Given the description of an element on the screen output the (x, y) to click on. 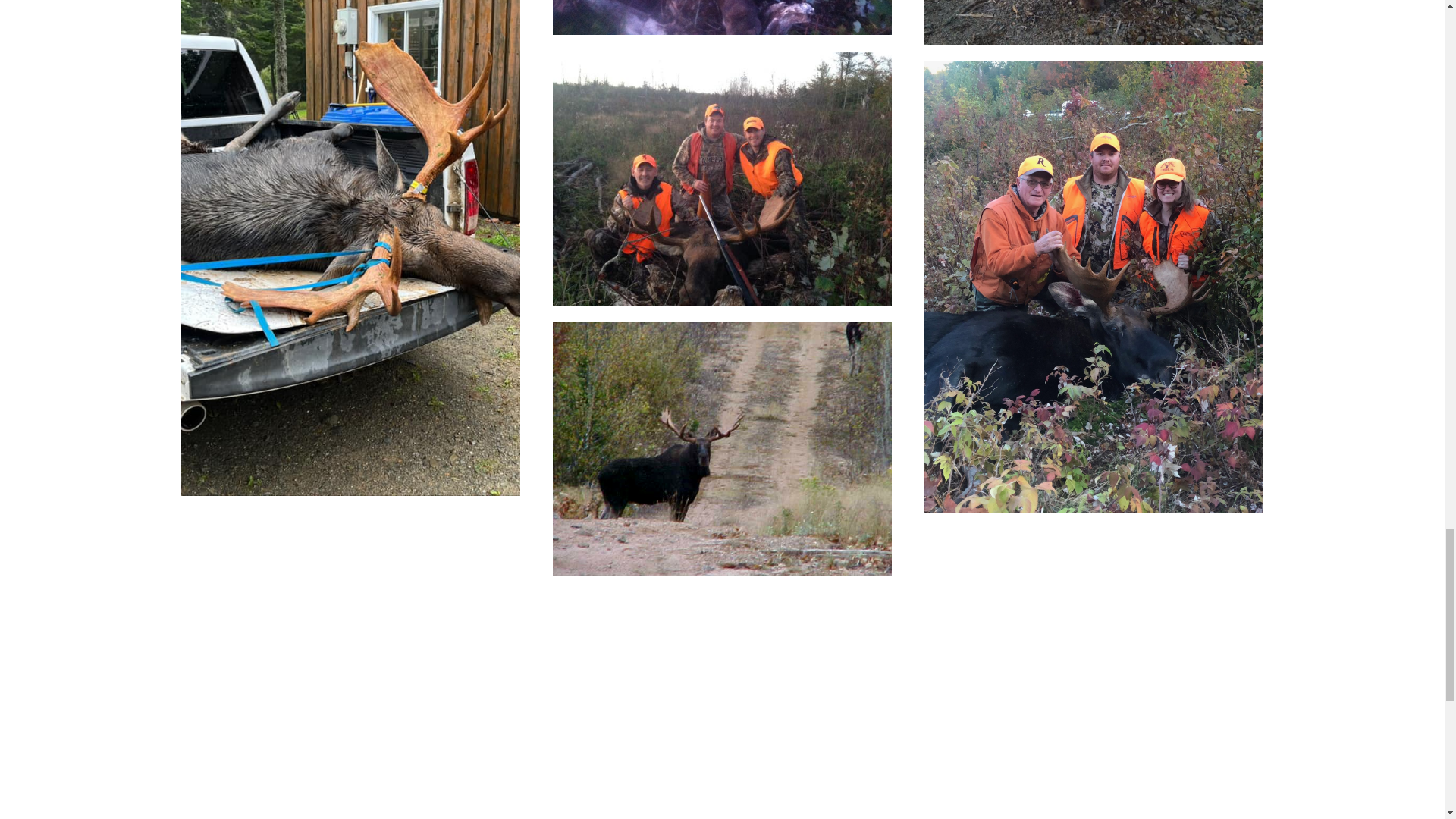
hunting 46 (722, 449)
